Given the description of an element on the screen output the (x, y) to click on. 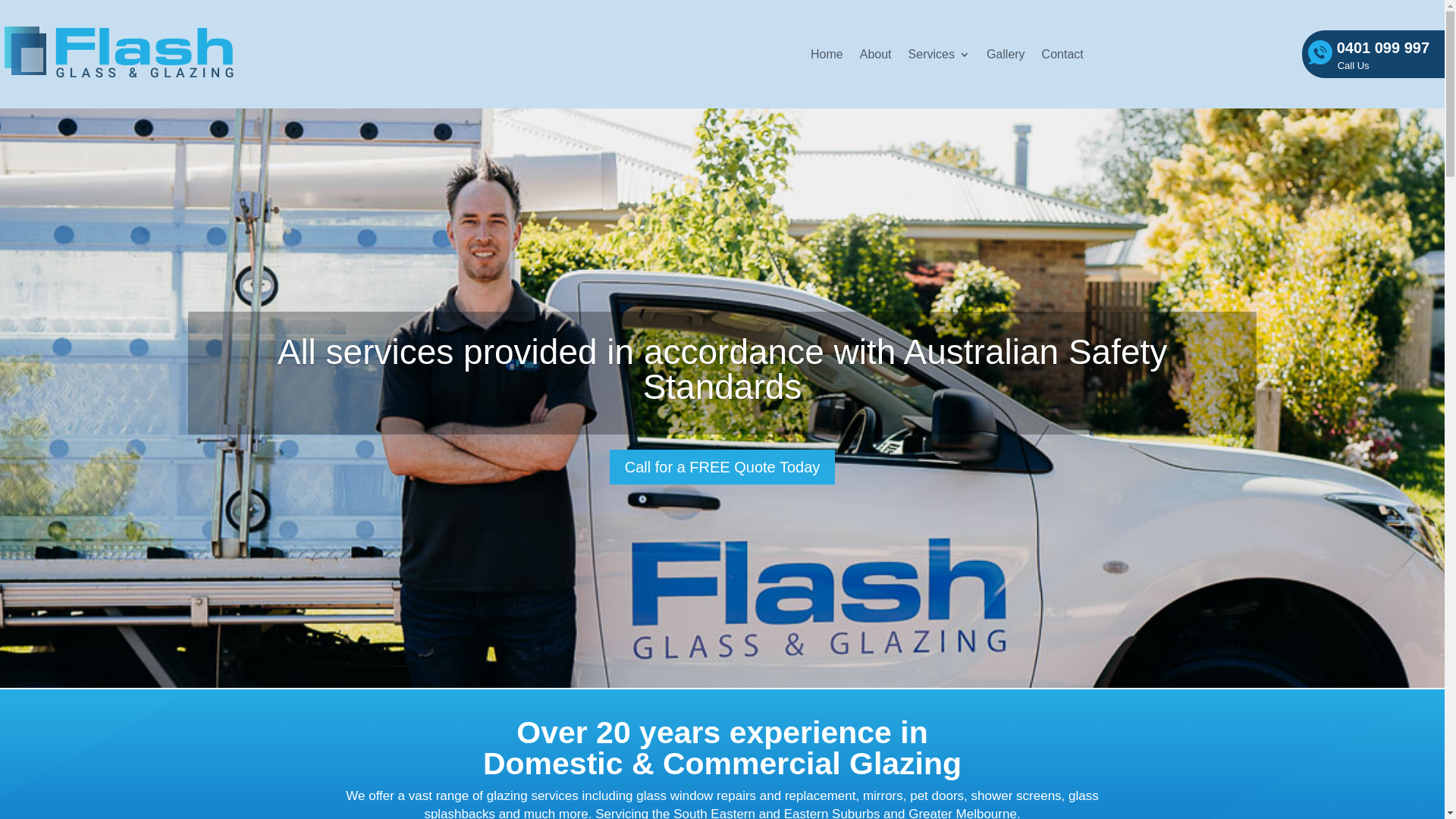
Services Element type: text (938, 53)
About Element type: text (875, 53)
Call for a FREE Quote Today Element type: text (722, 466)
Home Element type: text (826, 53)
Gallery Element type: text (1005, 53)
Contact Element type: text (1062, 53)
0401 099 997 Element type: text (1373, 54)
